Given the description of an element on the screen output the (x, y) to click on. 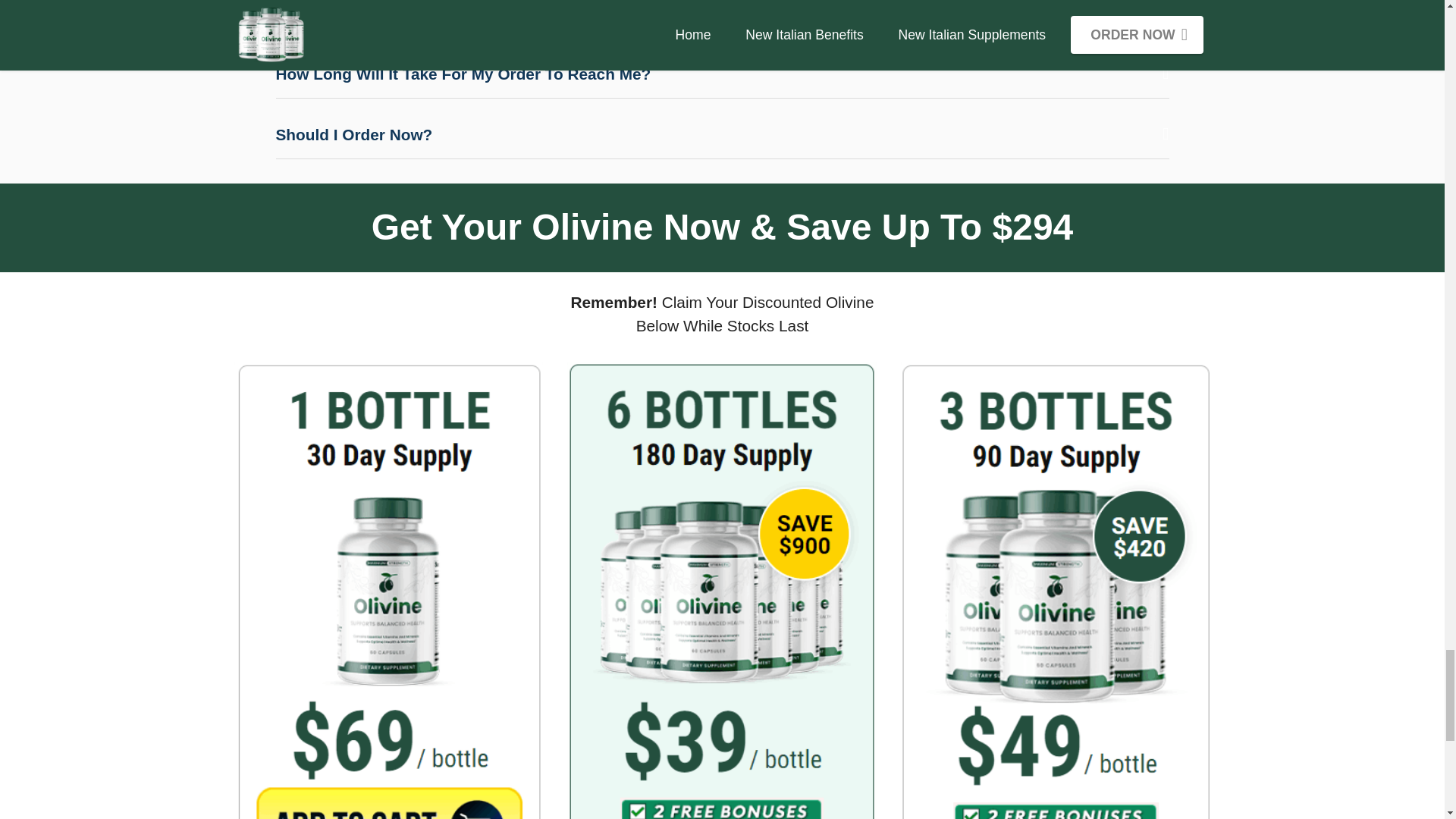
Should I Order Now? (722, 134)
How Long Will It Take For My Order To Reach Me? (722, 73)
Can I Take Olivine With My Current Prescription? (722, 13)
